Given the description of an element on the screen output the (x, y) to click on. 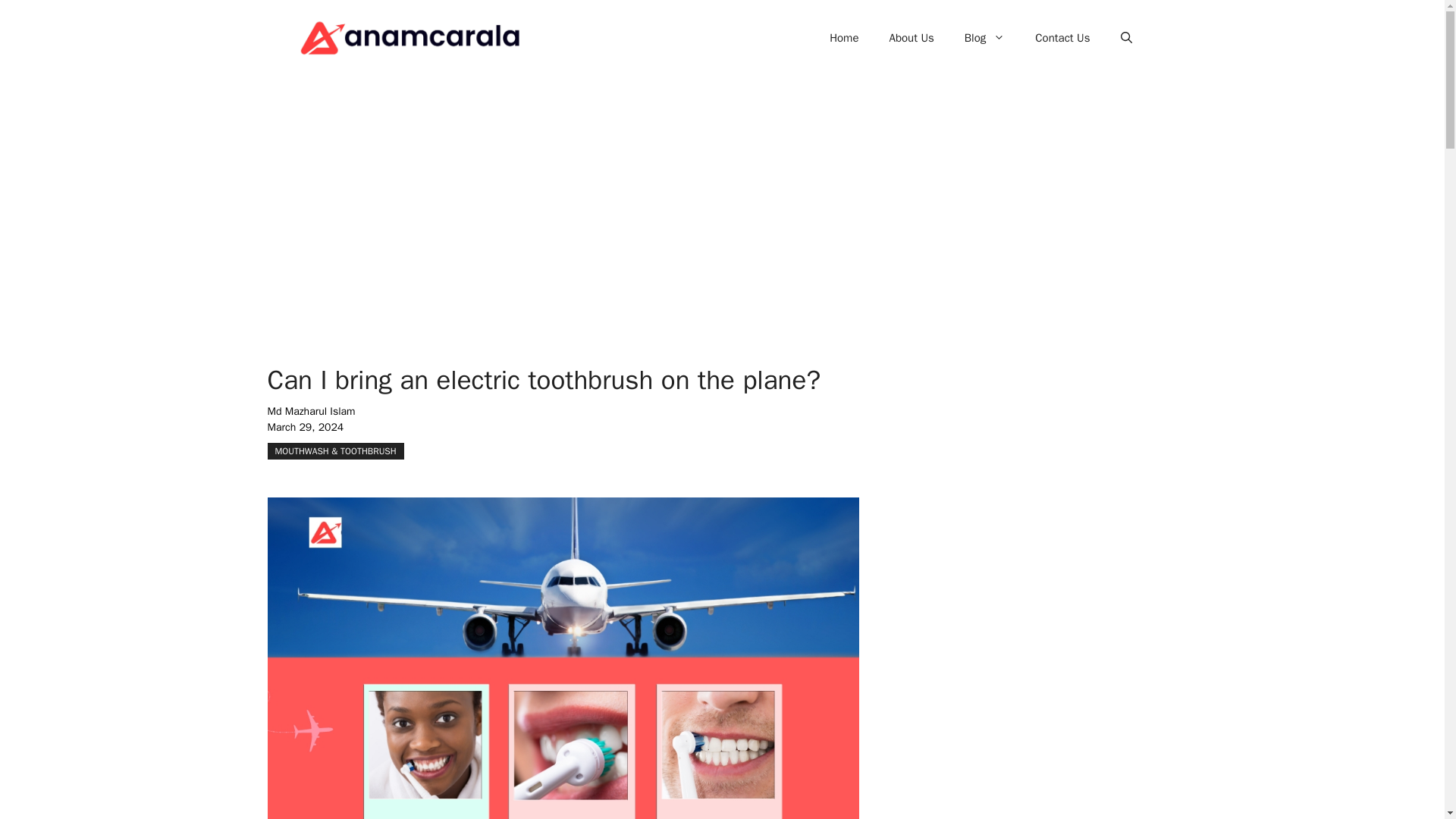
Home (843, 37)
Md Mazharul Islam (310, 410)
About Us (911, 37)
Contact Us (1062, 37)
Blog (984, 37)
